Given the description of an element on the screen output the (x, y) to click on. 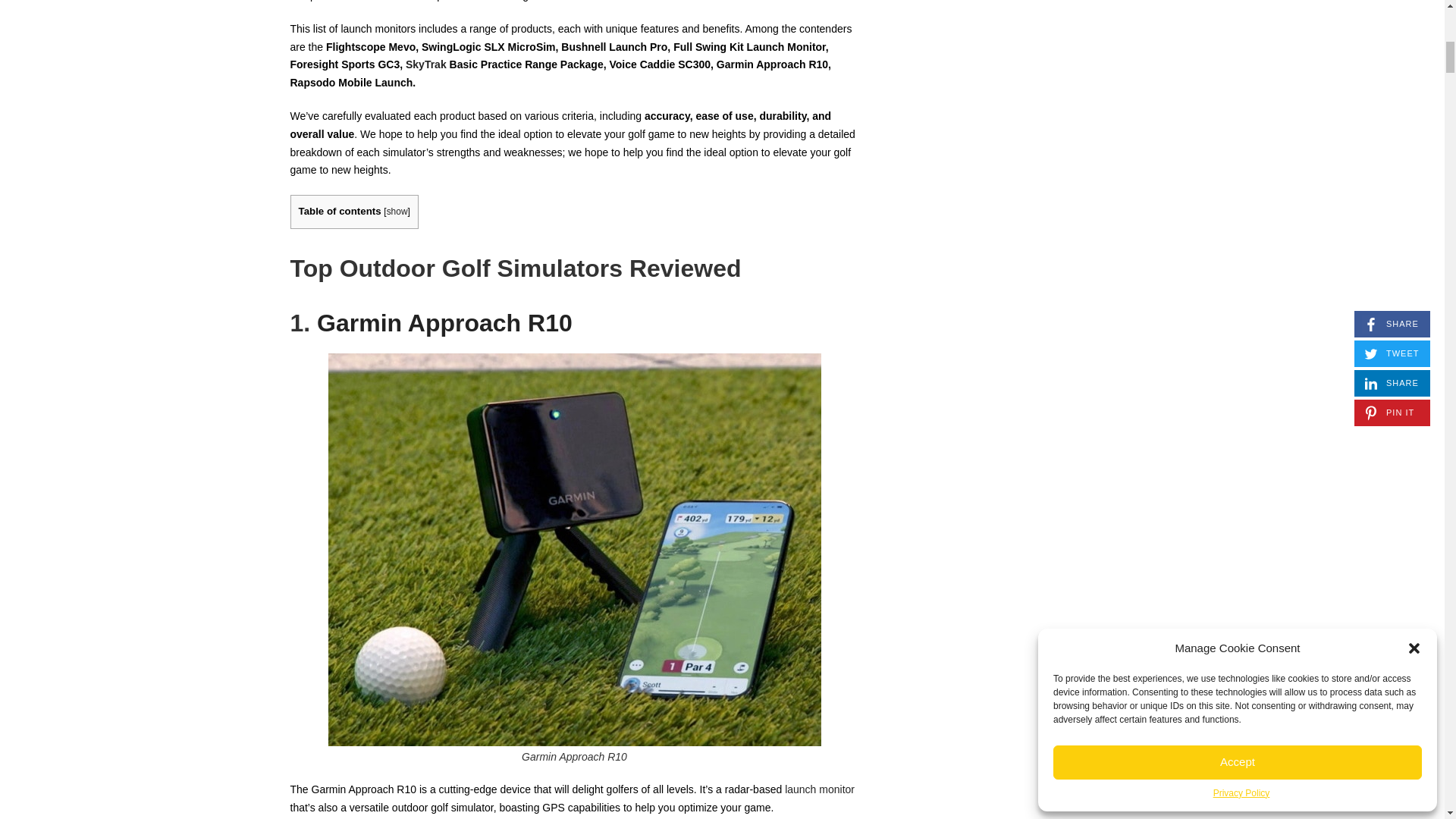
SkyTrak (426, 64)
launch monitor (819, 788)
SkyTrak (426, 64)
